Given the description of an element on the screen output the (x, y) to click on. 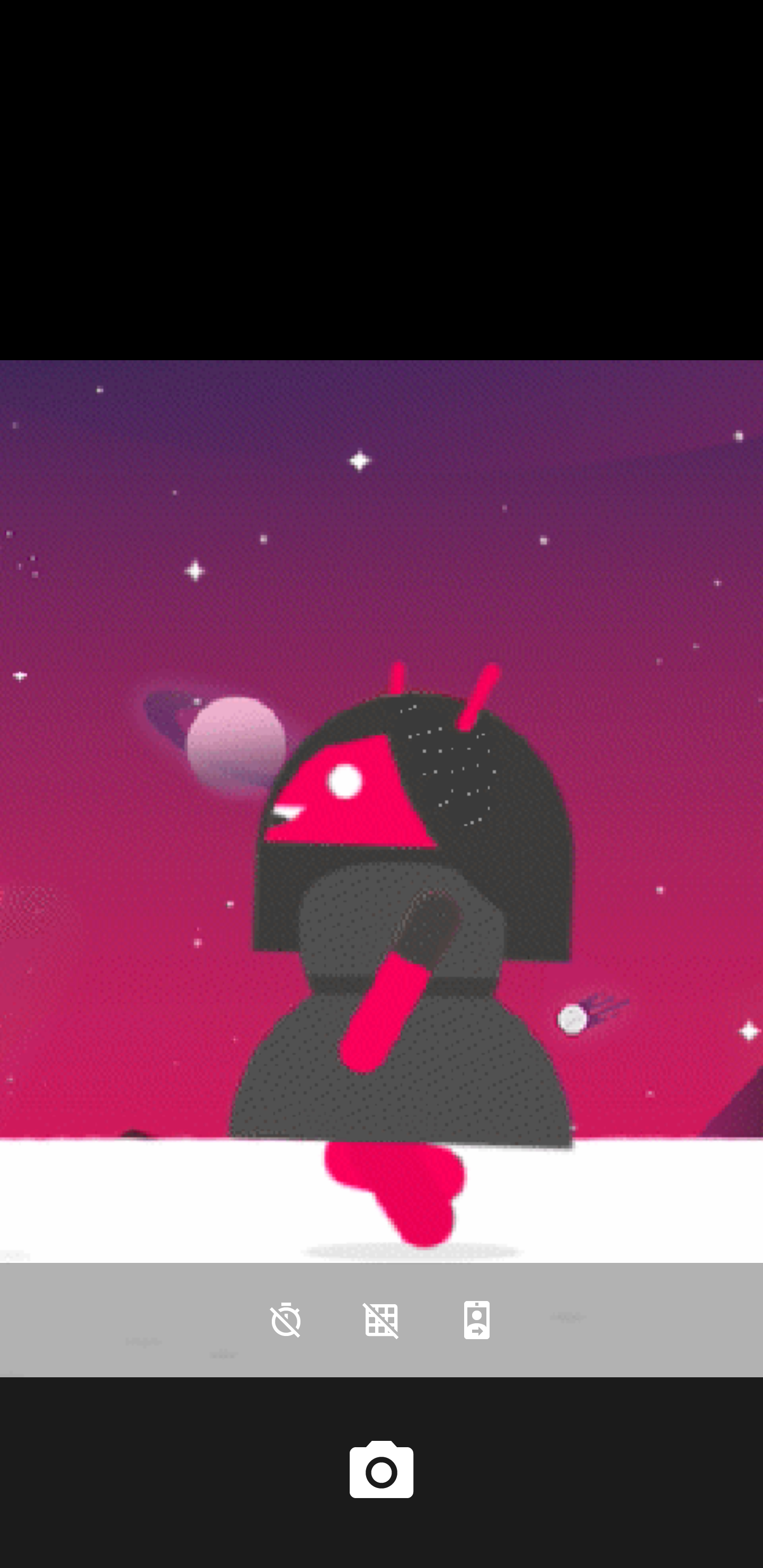
Countdown timer is off (285, 1319)
Grid lines off (381, 1319)
Front camera (476, 1319)
Shutter (381, 1472)
